Given the description of an element on the screen output the (x, y) to click on. 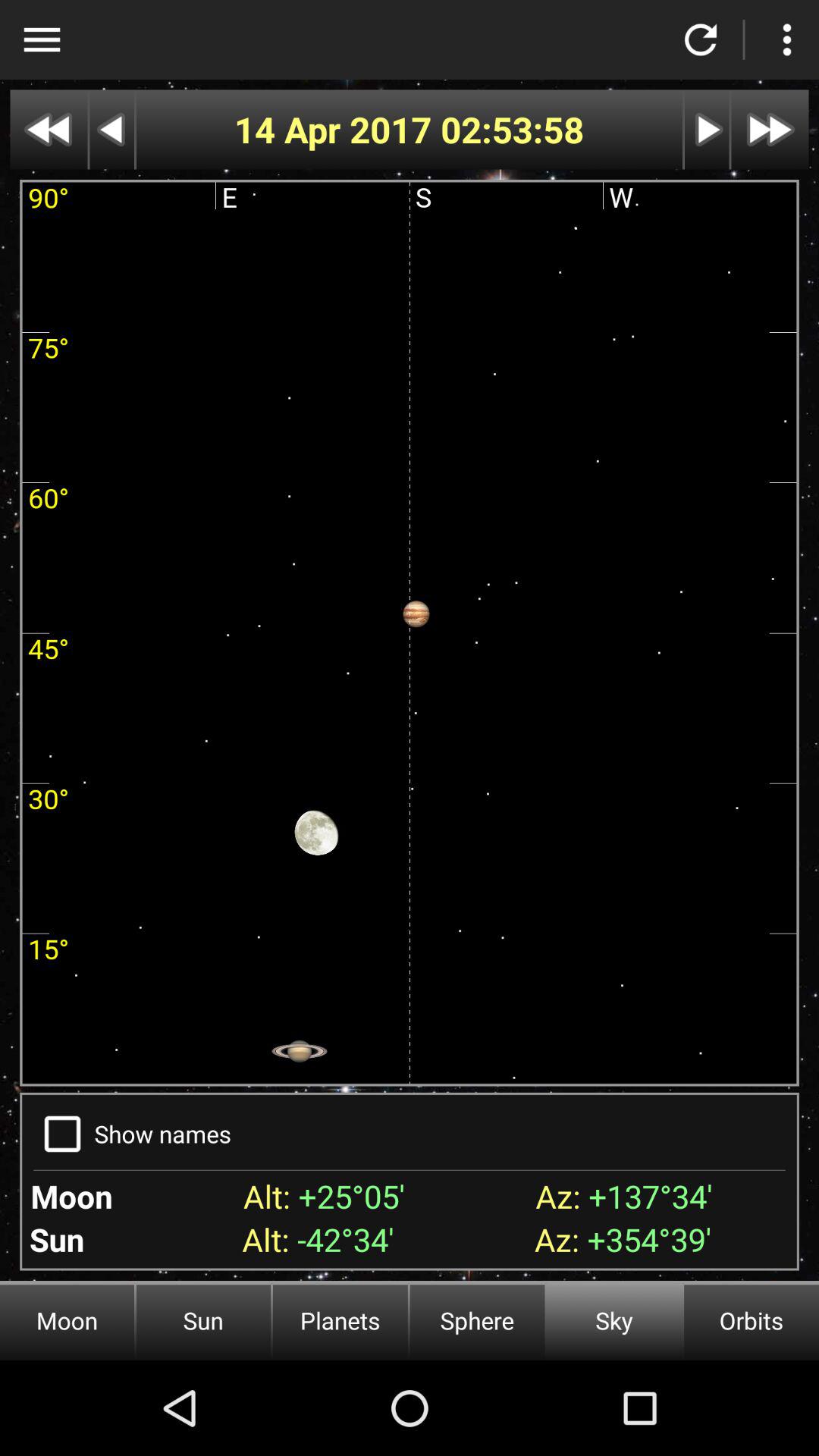
go to next (706, 129)
